Given the description of an element on the screen output the (x, y) to click on. 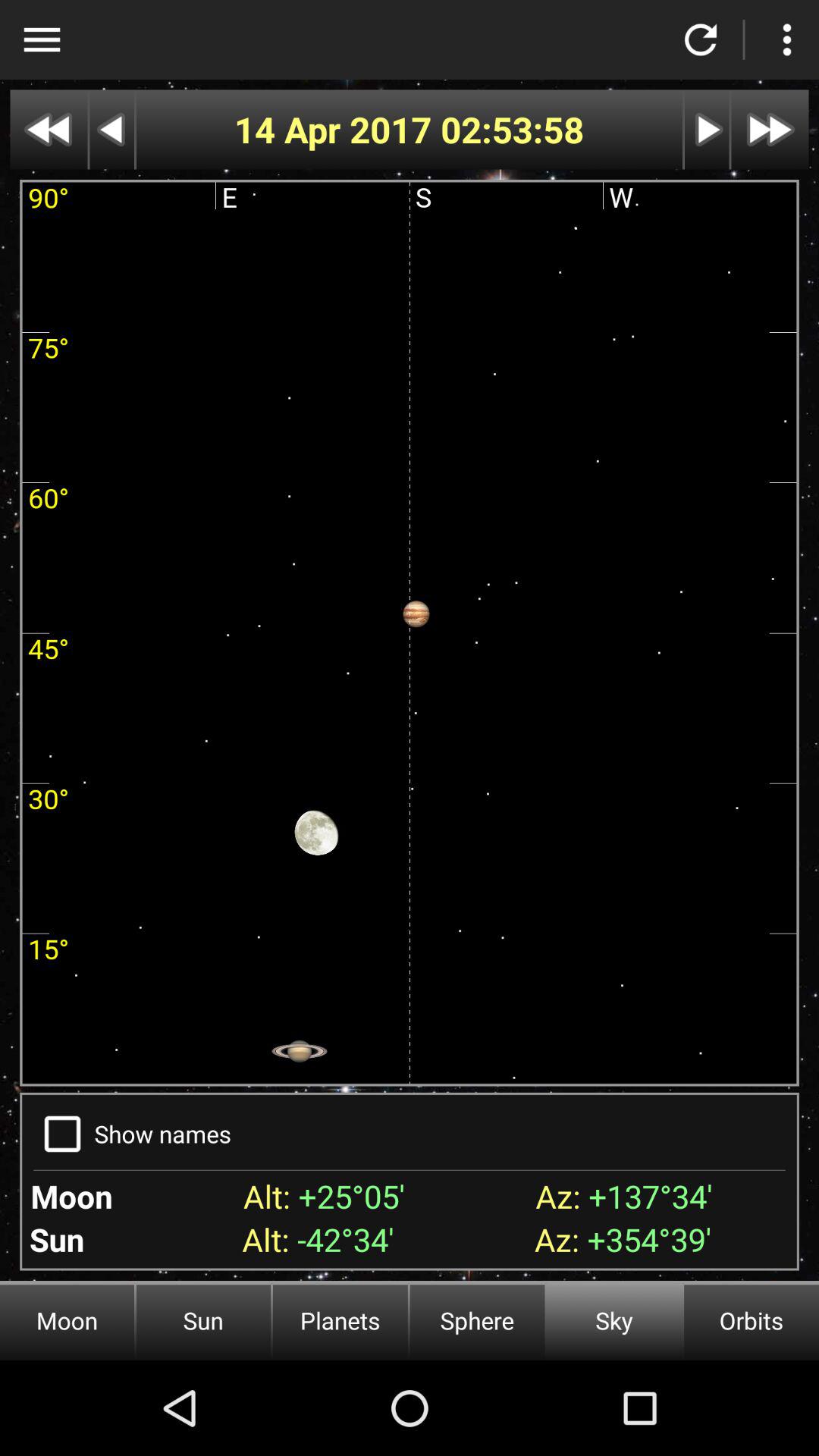
go to next (706, 129)
